Given the description of an element on the screen output the (x, y) to click on. 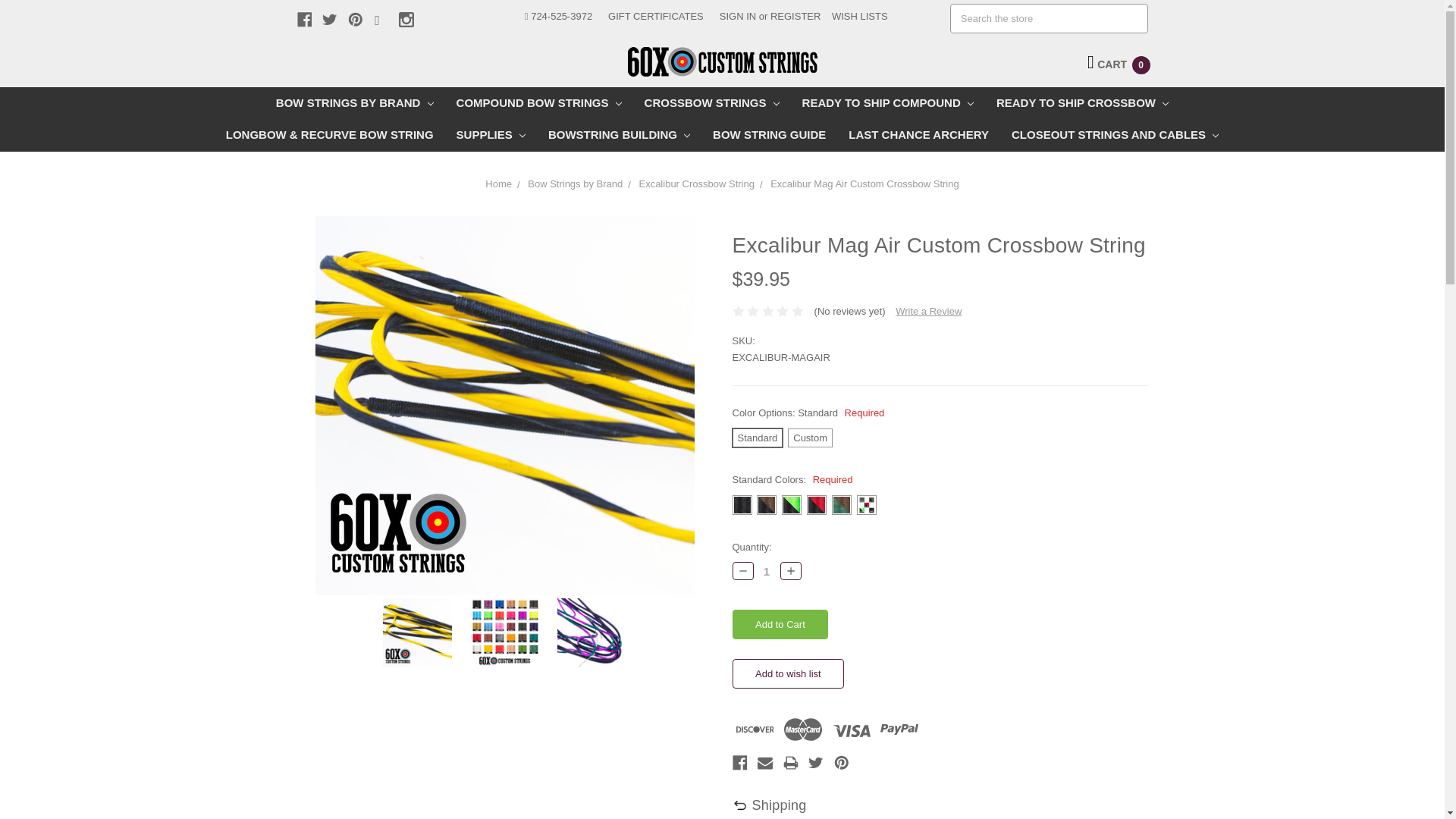
GIFT CERTIFICATES (655, 16)
724-525-3972 (557, 16)
1 (767, 571)
60X Custom Strings Excalibur Mag Air Custom Crossbow String  (504, 632)
WISH LISTS (859, 16)
60X Custom Strings (721, 61)
